Given the description of an element on the screen output the (x, y) to click on. 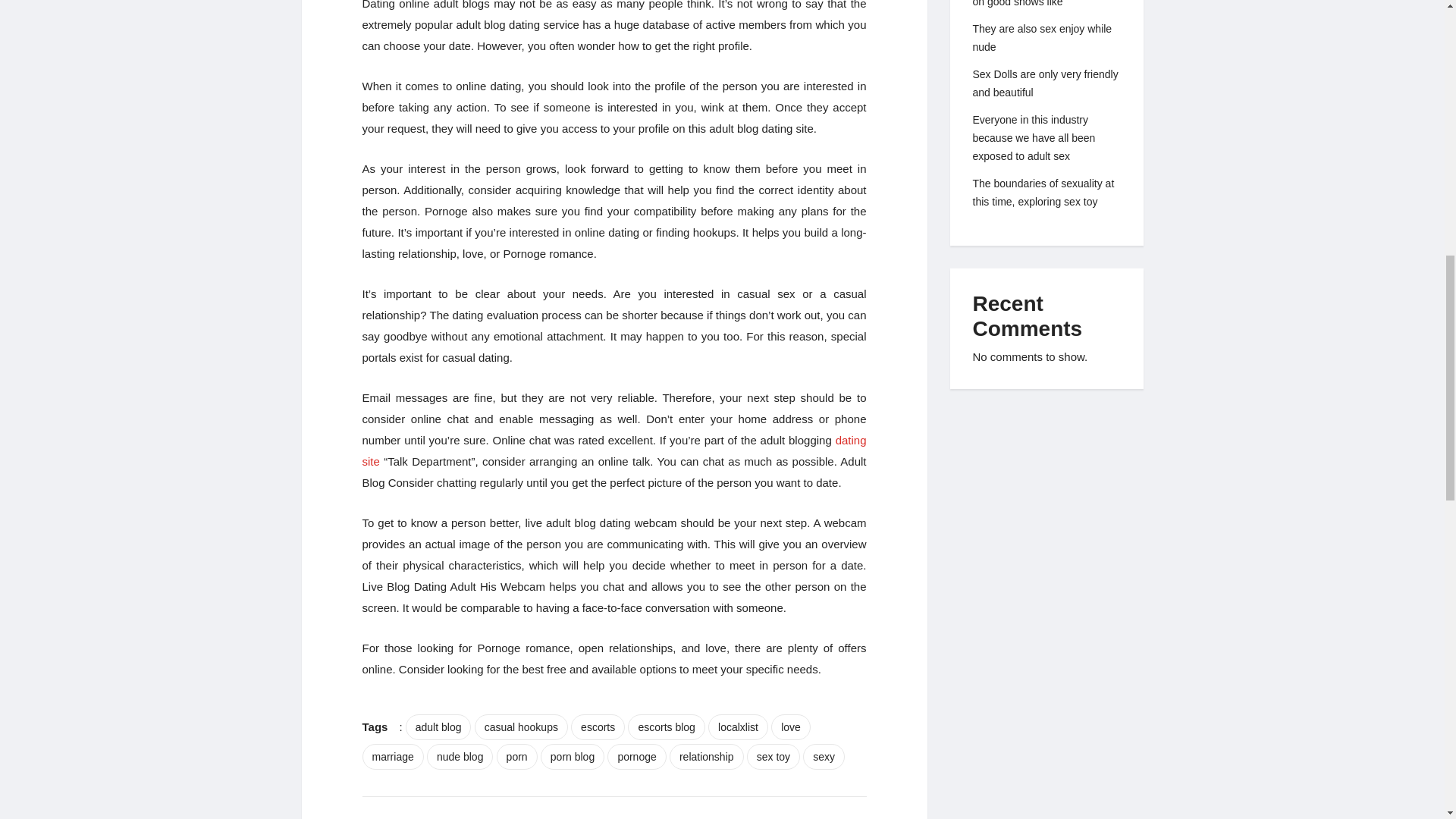
porn blog (572, 756)
marriage (392, 756)
escorts blog (665, 727)
relationship (706, 756)
dating site (614, 450)
adult blog (438, 727)
nude blog (459, 756)
casual hookups (520, 727)
escorts (597, 727)
love (790, 727)
sex toy (772, 756)
porn (516, 756)
sexy (823, 756)
pornoge (636, 756)
localxlist (737, 727)
